Given the description of an element on the screen output the (x, y) to click on. 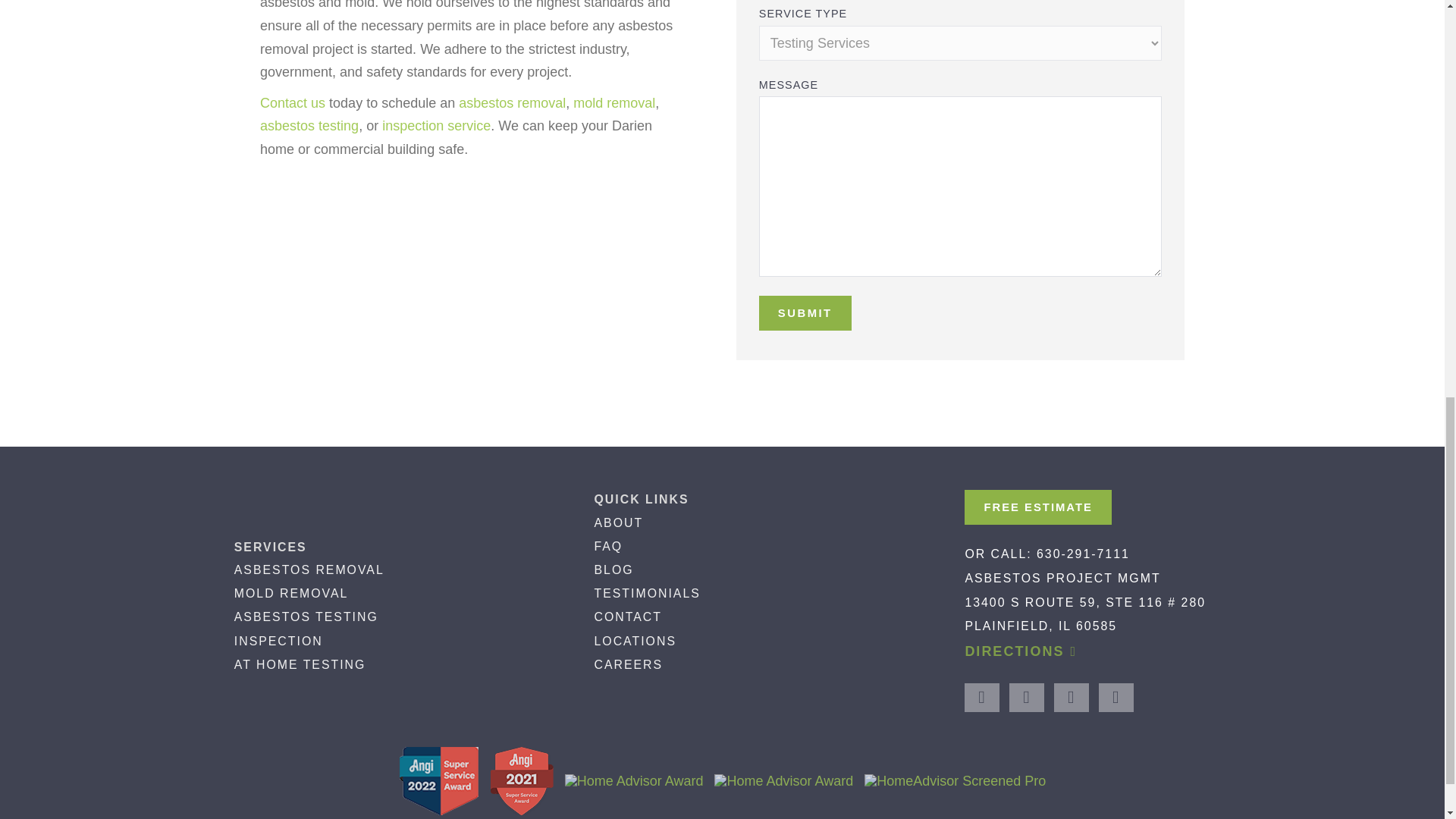
ASBESTOS TESTING (306, 616)
DIRECTIONS (1020, 657)
asbestos testing (309, 125)
FAQ (608, 545)
ASBESTOS REMOVAL (309, 569)
Facebook (980, 697)
CONTACT (627, 616)
Contact us (292, 102)
mold removal (614, 102)
Yelp (1116, 697)
Submit (804, 312)
TESTIMONIALS (647, 593)
INSPECTION (278, 640)
BLOG (613, 569)
QUICK LINKS (641, 499)
